Given the description of an element on the screen output the (x, y) to click on. 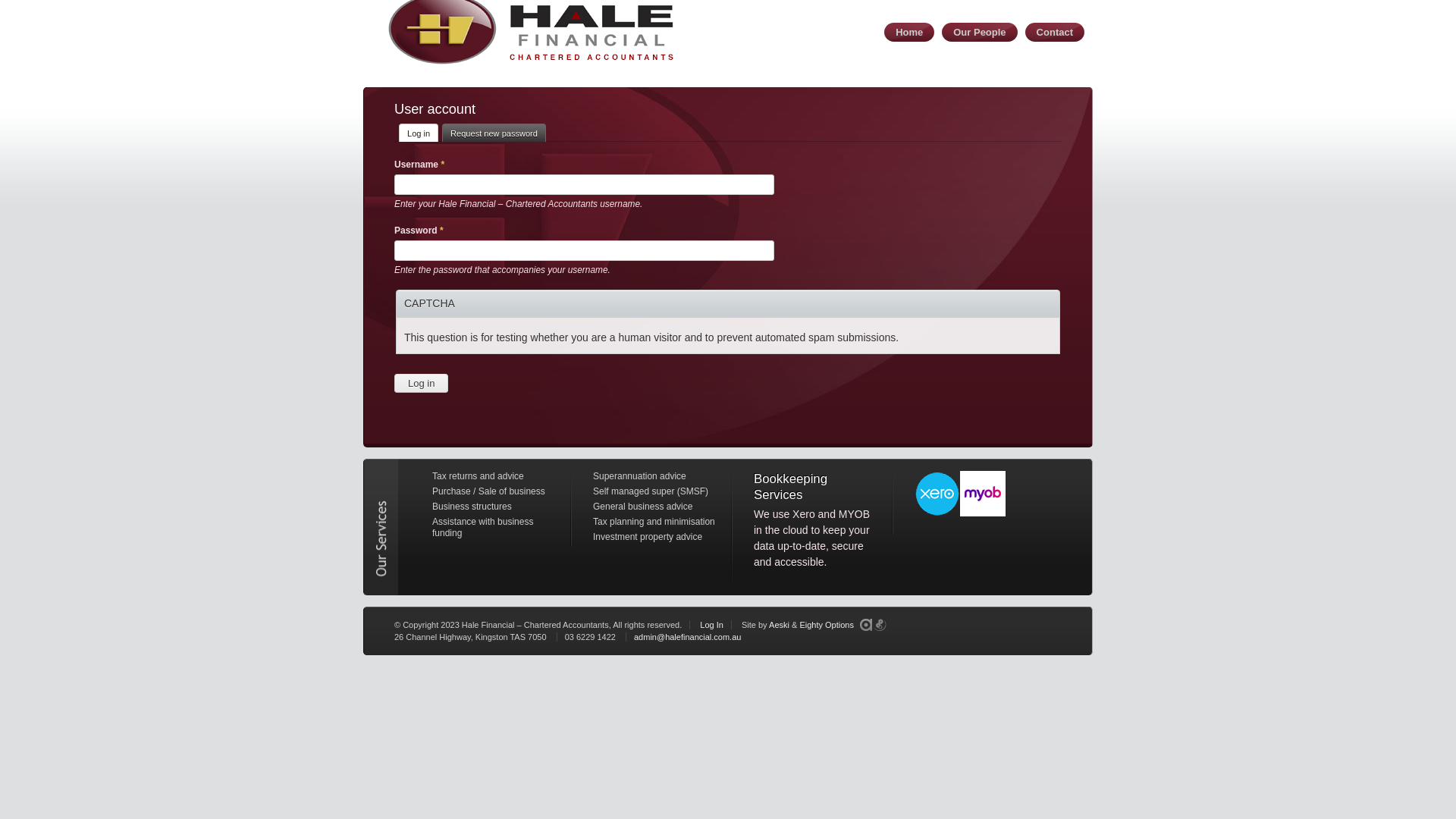
Eighty Options Element type: text (880, 624)
Log in Element type: text (421, 382)
Eighty Options Element type: text (826, 624)
Home Element type: text (909, 31)
Log In Element type: text (711, 624)
Request new password Element type: text (494, 132)
Aeski Element type: text (778, 624)
Log in
(active tab) Element type: text (418, 132)
Our People Element type: text (978, 31)
admin@halefinancial.com.au Element type: text (686, 636)
Contact Element type: text (1054, 31)
